Given the description of an element on the screen output the (x, y) to click on. 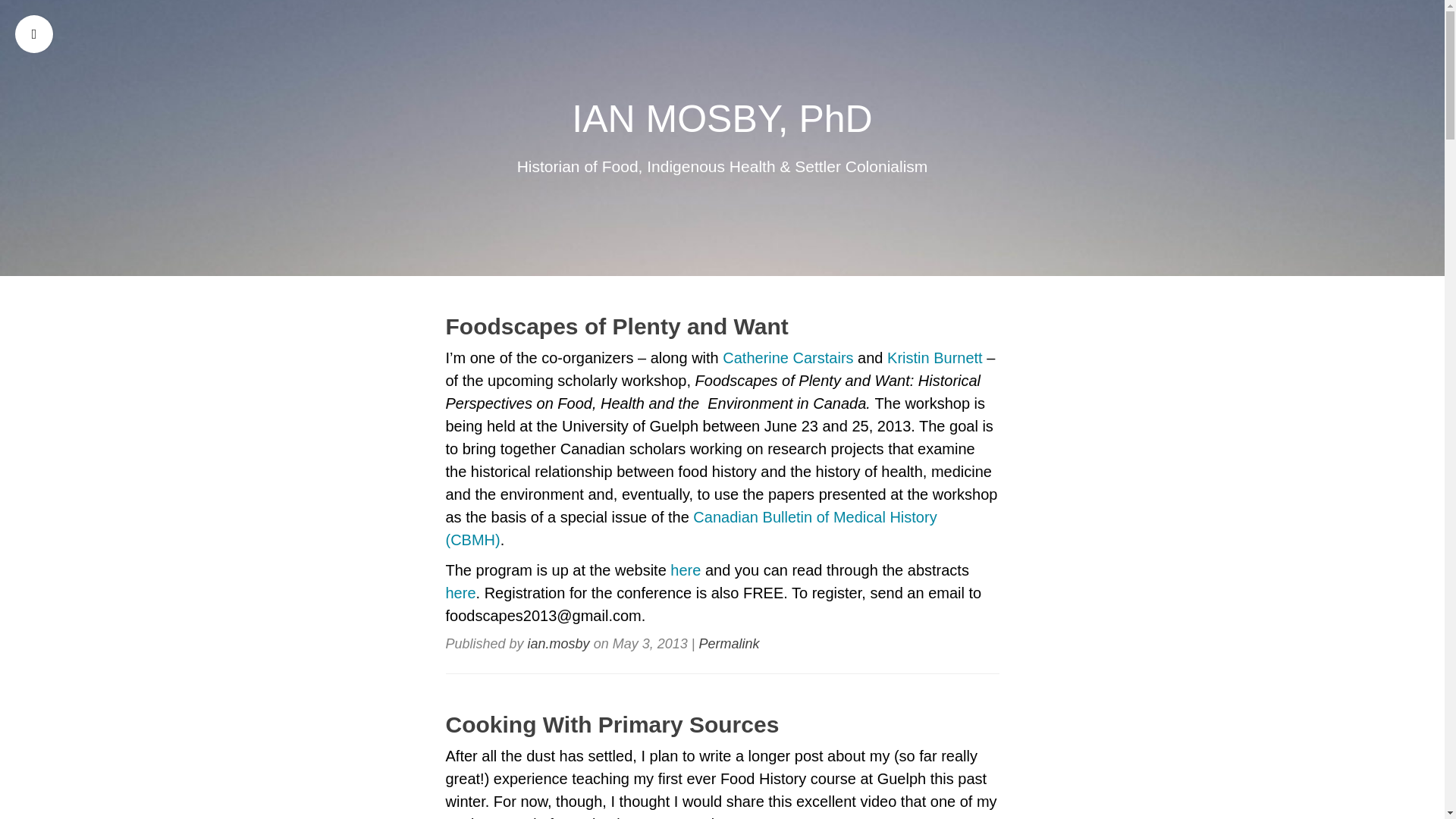
Kristin Burnett (934, 357)
ian.mosby (558, 643)
Permalink (728, 643)
Cooking With Primary Sources (721, 724)
Foodscapes of Plenty and Want (721, 326)
here (460, 592)
here (684, 569)
IAN MOSBY, PhD (722, 118)
Catherine Carstairs (787, 357)
